Given the description of an element on the screen output the (x, y) to click on. 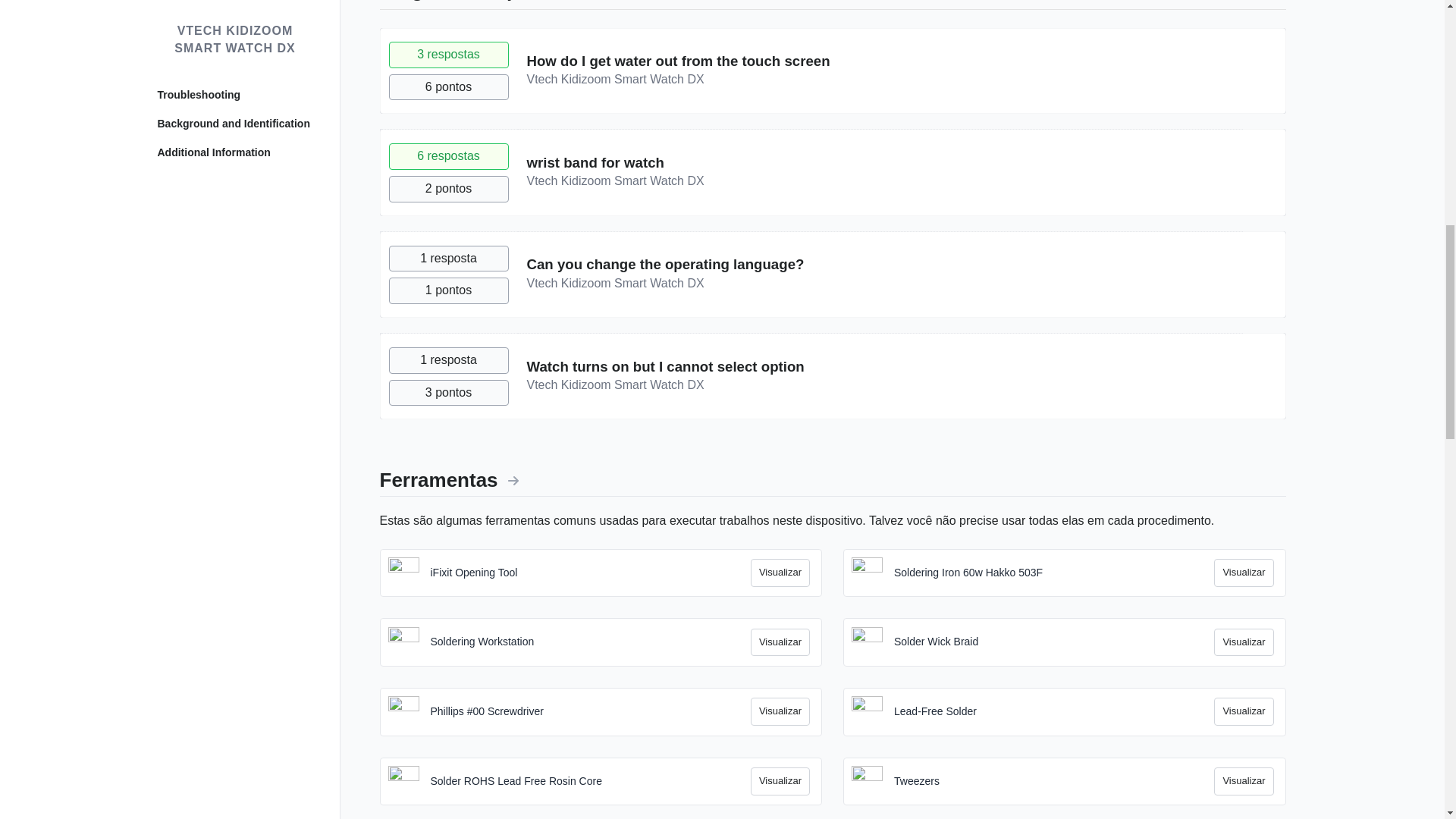
Vtech Kidizoom Smart Watch DX (614, 282)
Visualizar (780, 572)
Visualizar (1243, 572)
Vtech Kidizoom Smart Watch DX (614, 180)
How do I get water out from the touch screen (677, 60)
Fazer uma pergunta (1227, 1)
Vtech Kidizoom Smart Watch DX (614, 78)
Watch turns on but I cannot select option (664, 366)
wrist band for watch (594, 162)
how do I get a replacement wristband (594, 162)
Can you change the operating language? (664, 263)
Ferramentas (448, 479)
